Given the description of an element on the screen output the (x, y) to click on. 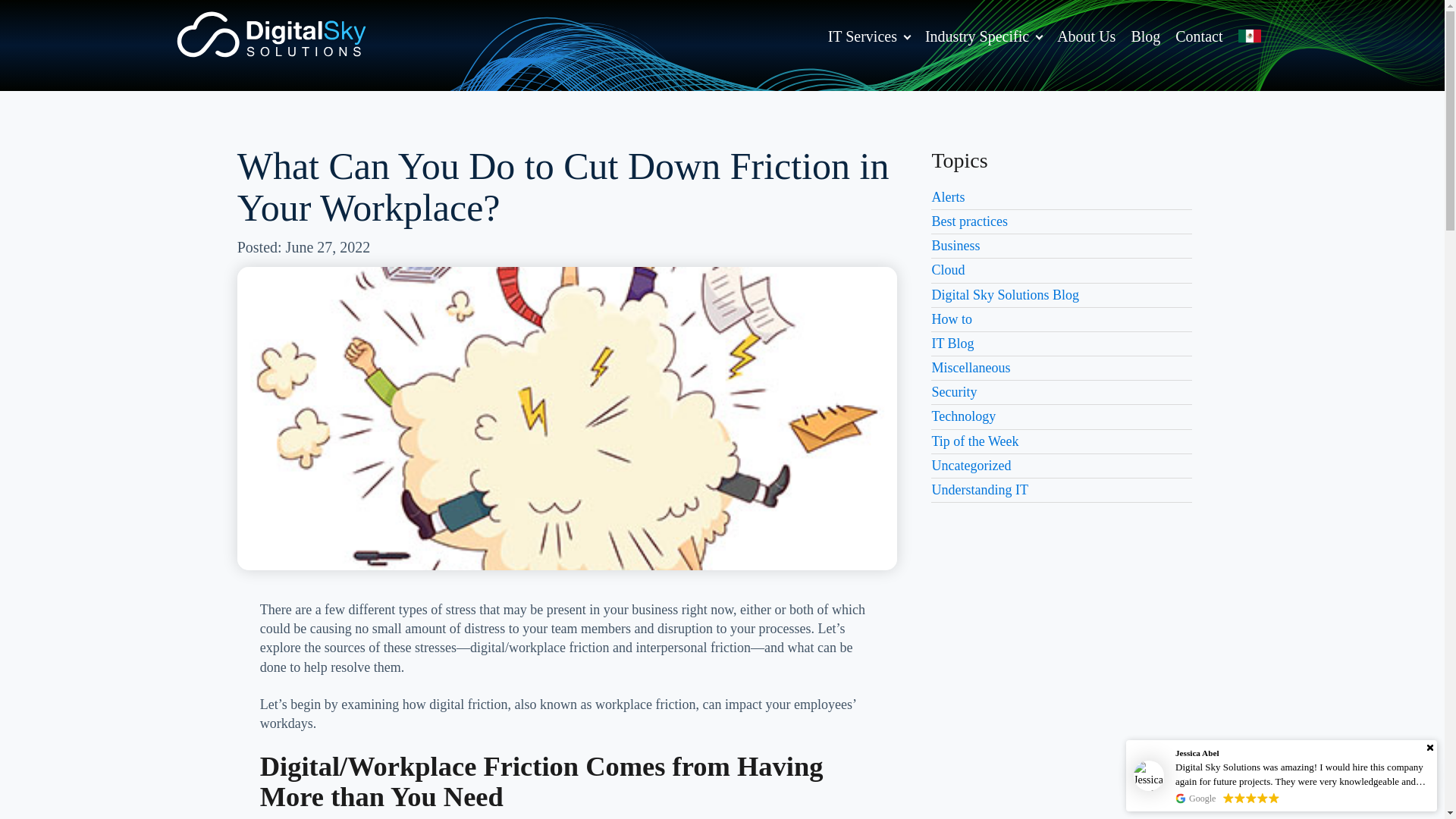
Tip of the Week (974, 441)
Digital Sky Solutions Blog (1004, 294)
IT Blog (952, 343)
Contact (1198, 35)
Blog (1144, 35)
Technology (963, 416)
Security (953, 391)
Uncategorized (970, 465)
Spanish (1248, 35)
About Us (1085, 35)
